Given the description of an element on the screen output the (x, y) to click on. 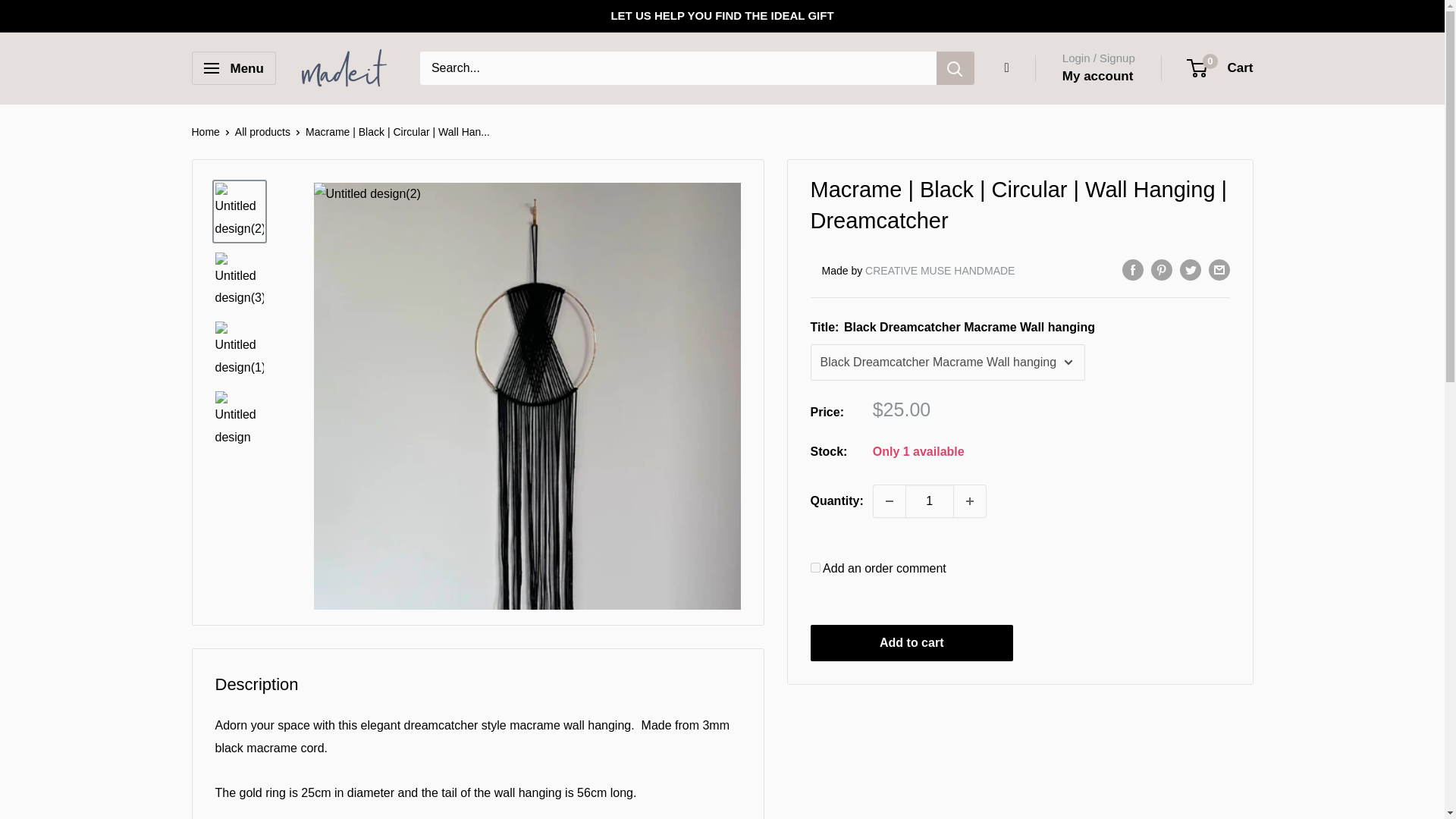
Increase quantity by 1 (969, 500)
on (814, 567)
LET US HELP YOU FIND THE IDEAL GIFT (721, 15)
Decrease quantity by 1 (889, 500)
1 (929, 500)
